Given the description of an element on the screen output the (x, y) to click on. 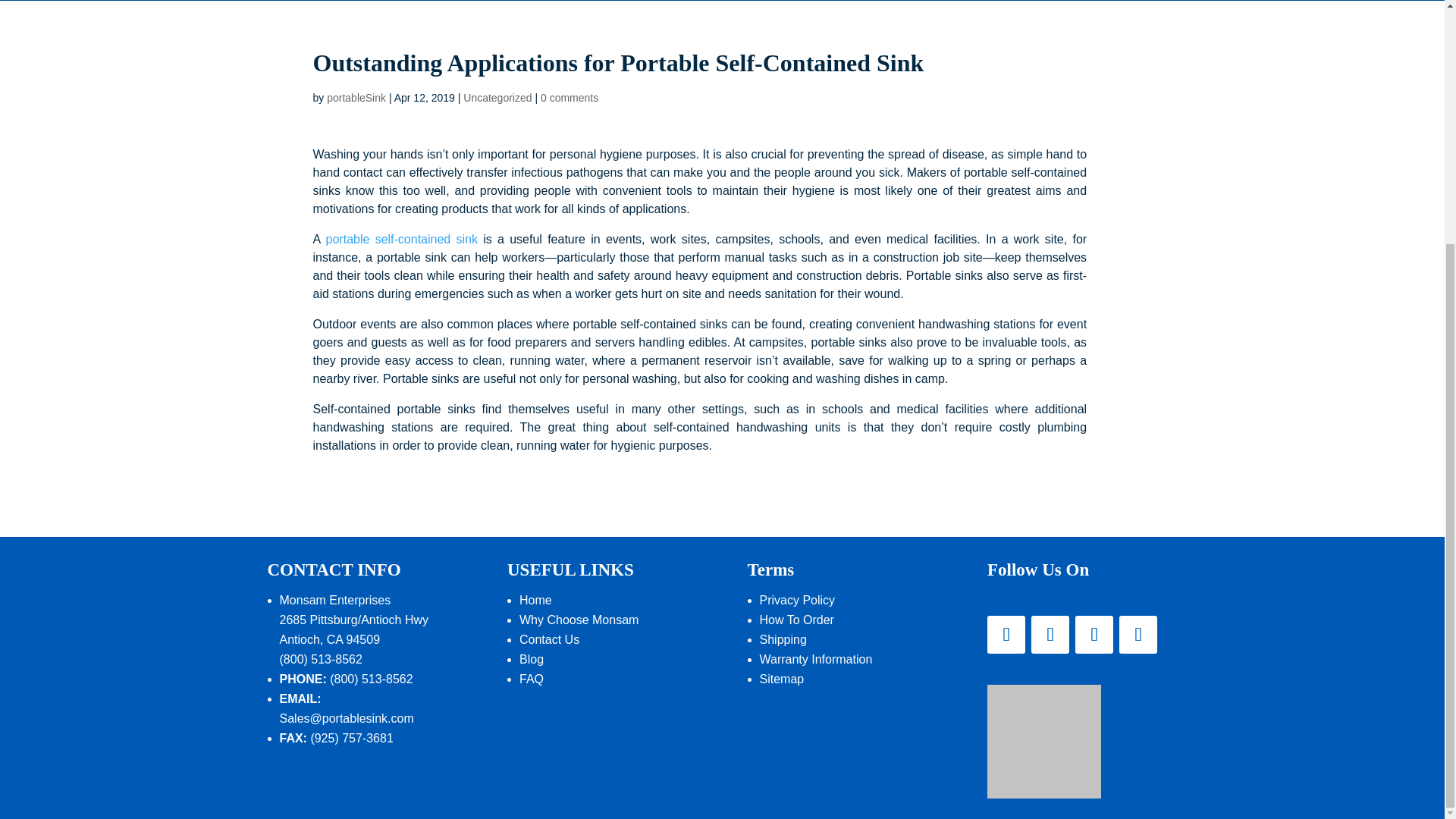
foo (1043, 741)
Follow on Pinterest (1094, 634)
Posts by portableSink (355, 97)
Follow on Facebook (1006, 634)
Follow on Instagram (1138, 634)
Follow on X (1049, 634)
